Given the description of an element on the screen output the (x, y) to click on. 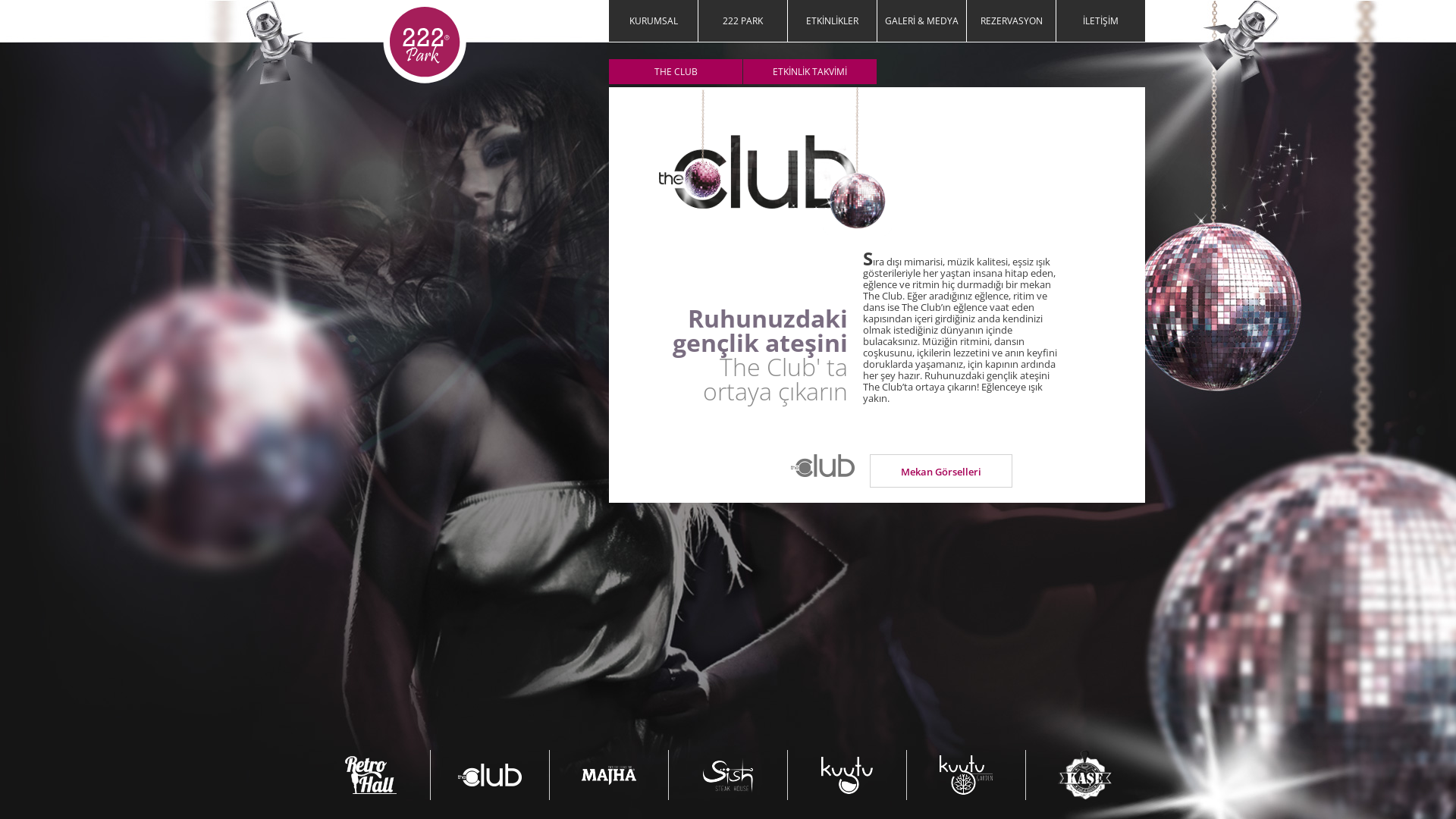
KURUMSAL Element type: text (652, 20)
THE CLUB Element type: text (675, 71)
222 Park Anasayfa Element type: hover (424, 41)
222 PARK Element type: text (742, 20)
REZERVASYON Element type: text (1010, 20)
